Given the description of an element on the screen output the (x, y) to click on. 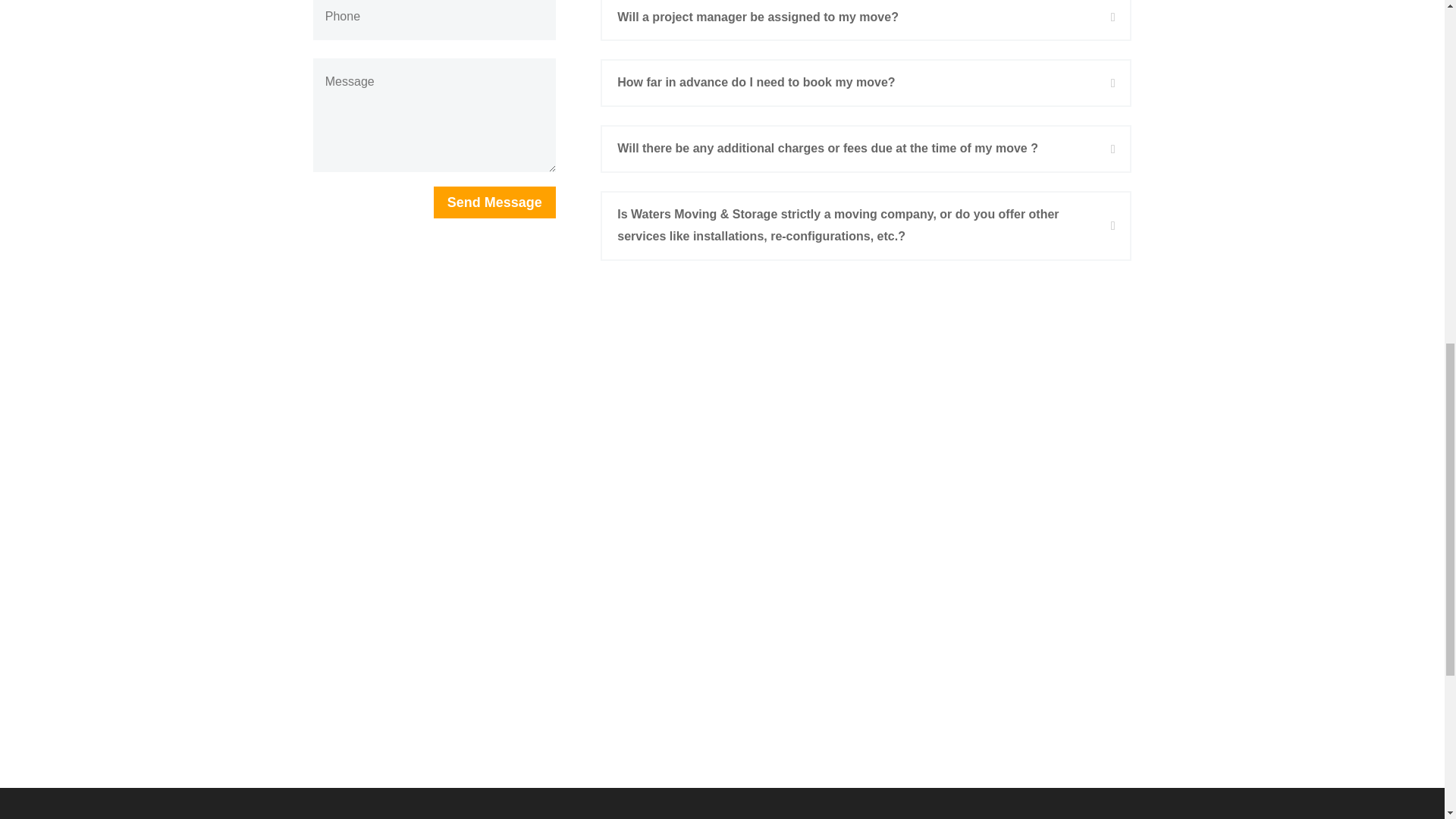
Only numbers allowed. (434, 20)
Send Message (494, 201)
